Given the description of an element on the screen output the (x, y) to click on. 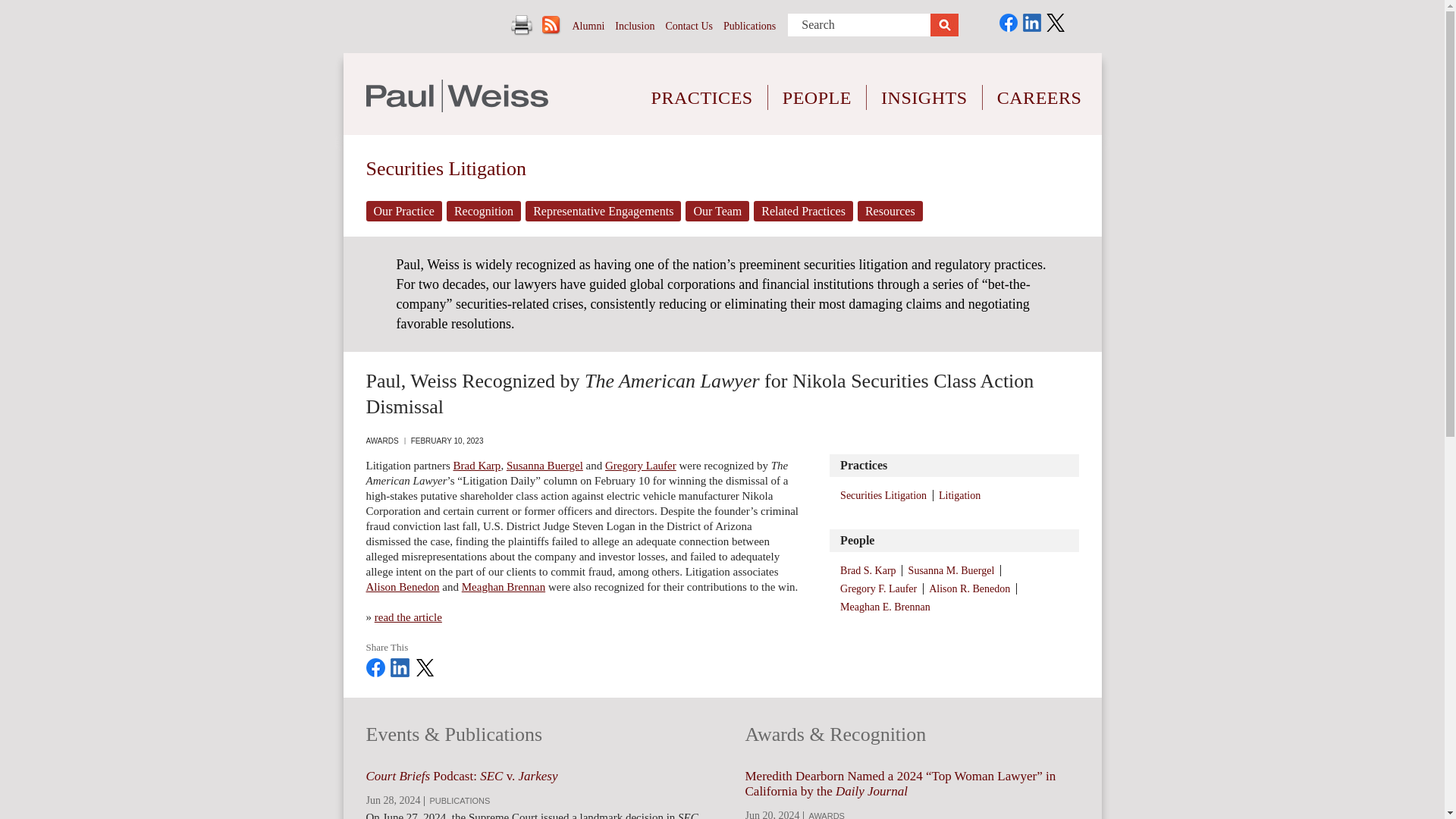
Publications (749, 25)
Print (522, 25)
logo (456, 95)
RSS (550, 25)
PRACTICES (702, 86)
Contact Us (689, 25)
SEARCH (944, 24)
Alumni (588, 25)
Inclusion (633, 25)
